Given the description of an element on the screen output the (x, y) to click on. 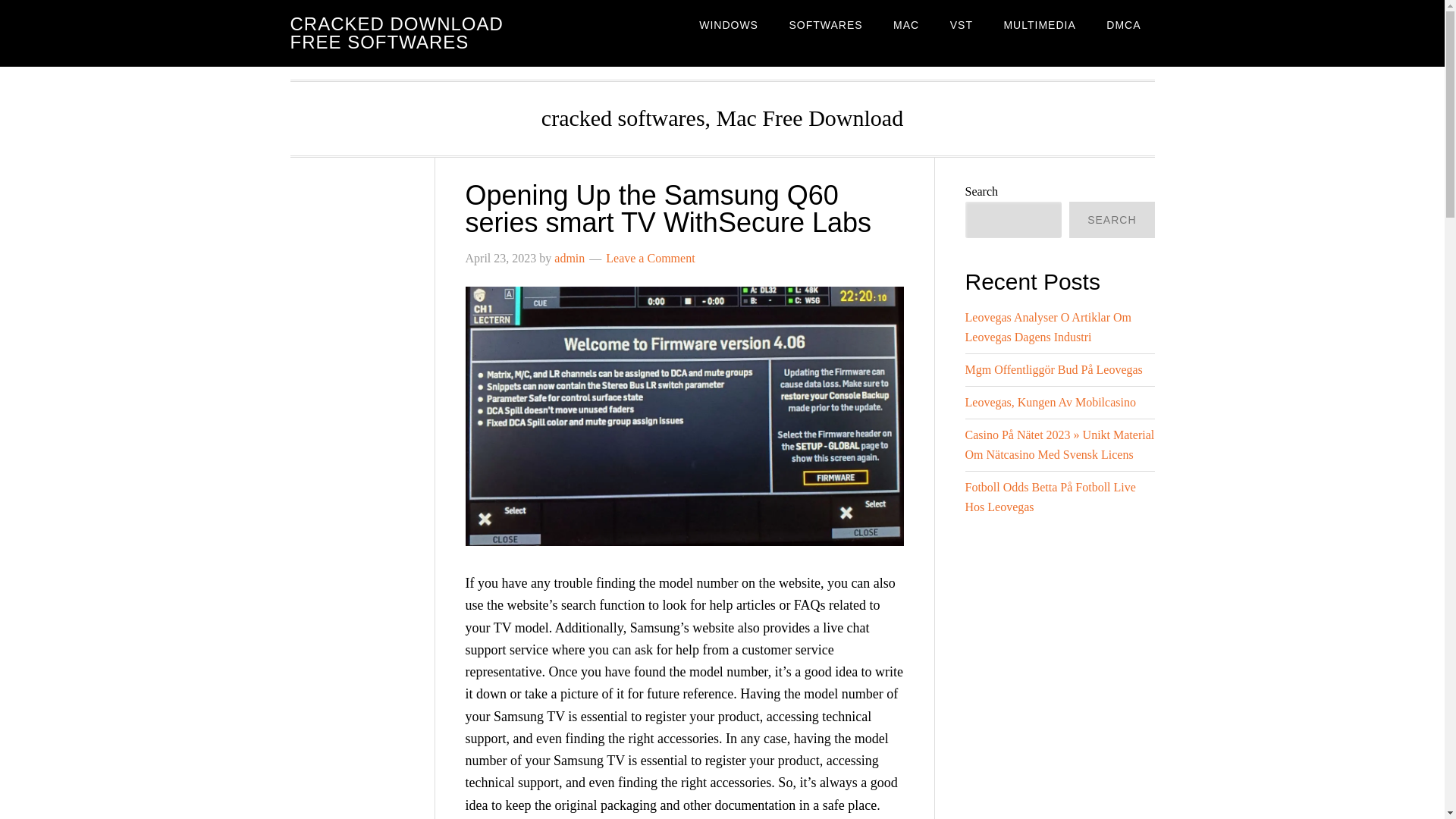
Leave a Comment (649, 257)
SOFTWARES (825, 24)
Leovegas Analyser O Artiklar Om Leovegas Dagens Industri (1047, 327)
MAC (906, 24)
Leovegas, Kungen Av Mobilcasino (1049, 401)
admin (569, 257)
SEARCH (1111, 219)
CRACKED DOWNLOAD FREE SOFTWARES (395, 32)
MULTIMEDIA (1039, 24)
WINDOWS (728, 24)
VST (961, 24)
DMCA (1123, 24)
